Given the description of an element on the screen output the (x, y) to click on. 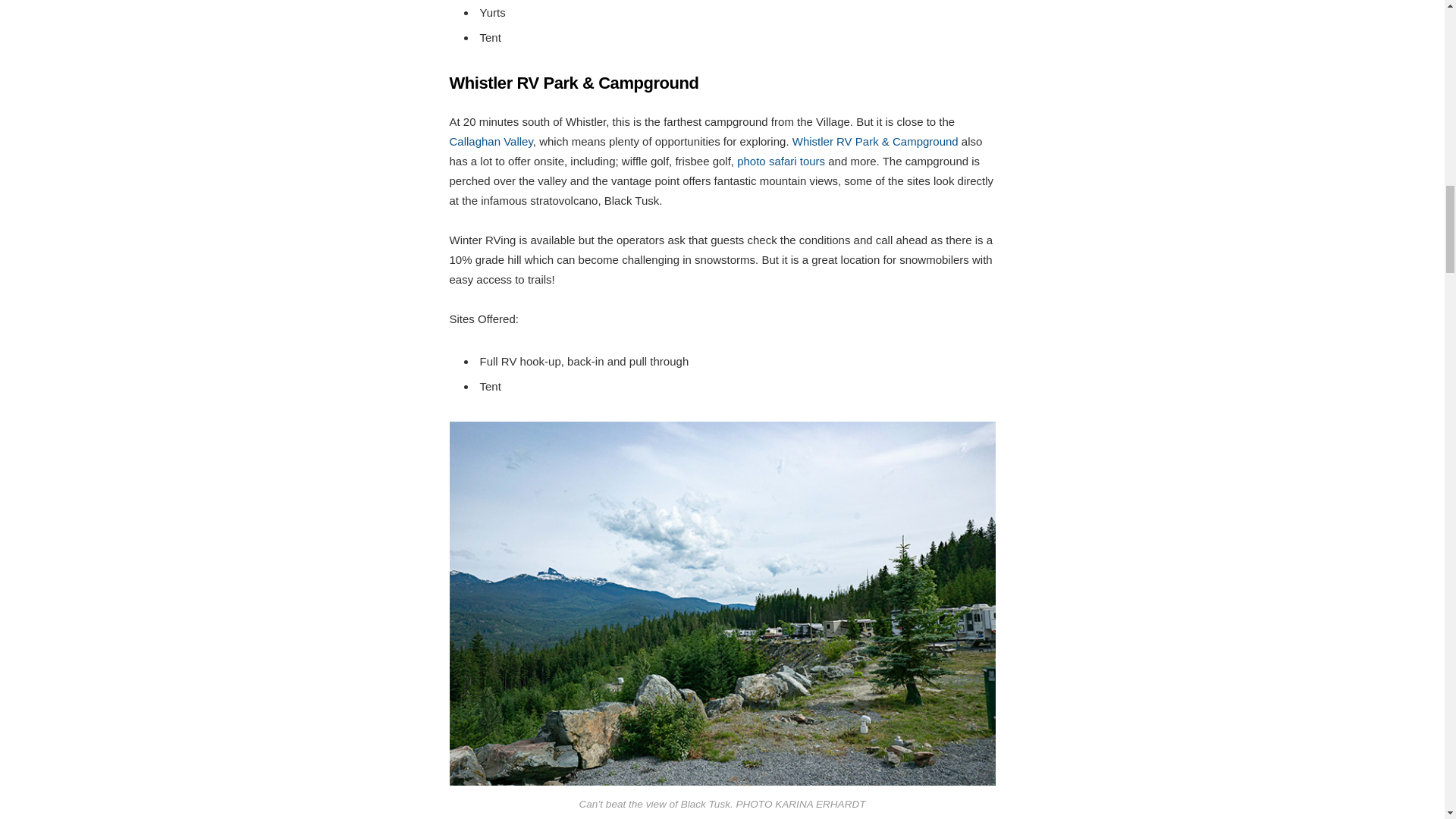
photo safari tours (780, 160)
Callaghan Valley (490, 141)
